Given the description of an element on the screen output the (x, y) to click on. 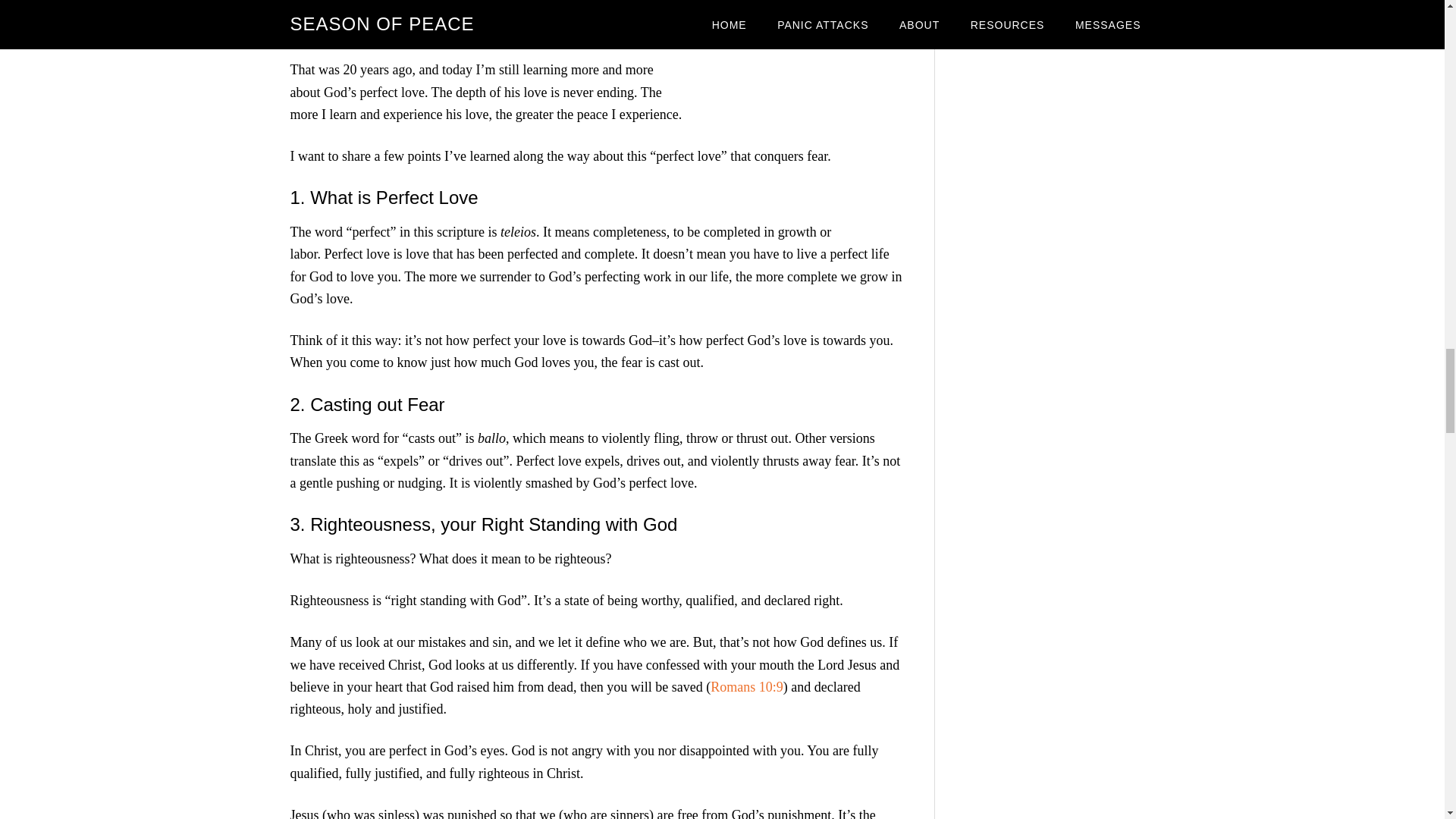
Perfect love casts out all fear (797, 33)
